Given the description of an element on the screen output the (x, y) to click on. 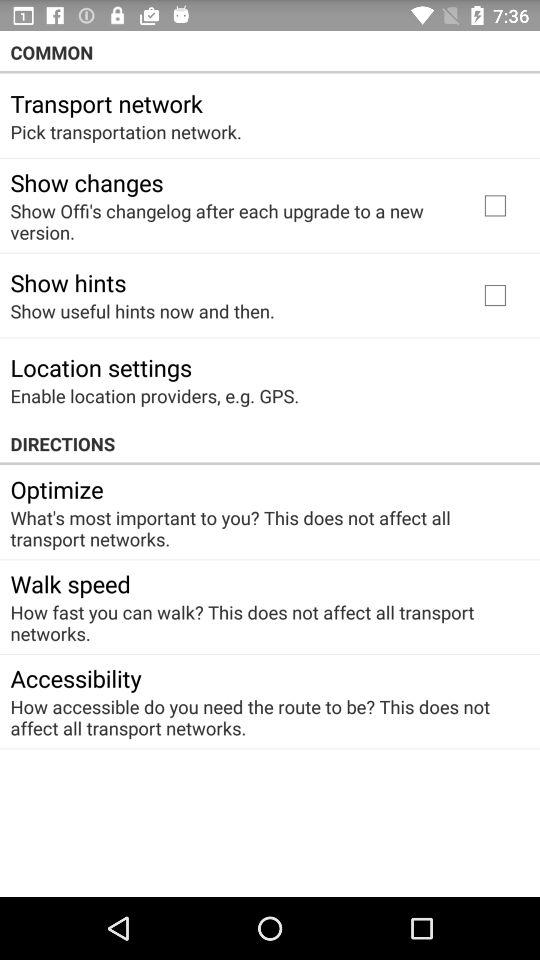
tap icon above the show hints (231, 221)
